Given the description of an element on the screen output the (x, y) to click on. 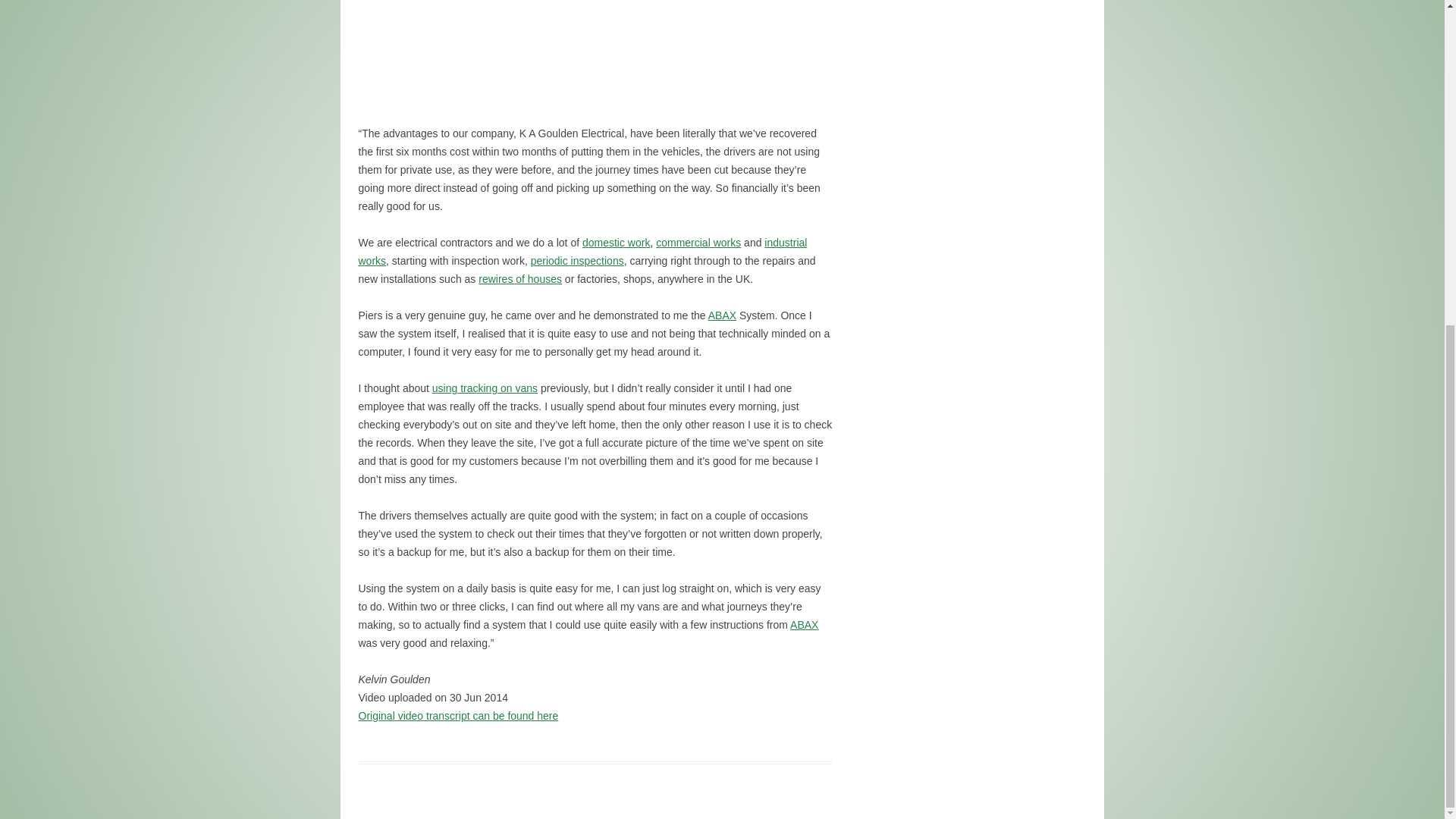
using tracking on vans (484, 387)
Original video transcript can be found here (457, 715)
ABAX (721, 315)
periodic inspections (577, 260)
rewires of houses (520, 278)
domestic work (615, 242)
ABAX (804, 624)
industrial works (582, 251)
commercial works (698, 242)
